Given the description of an element on the screen output the (x, y) to click on. 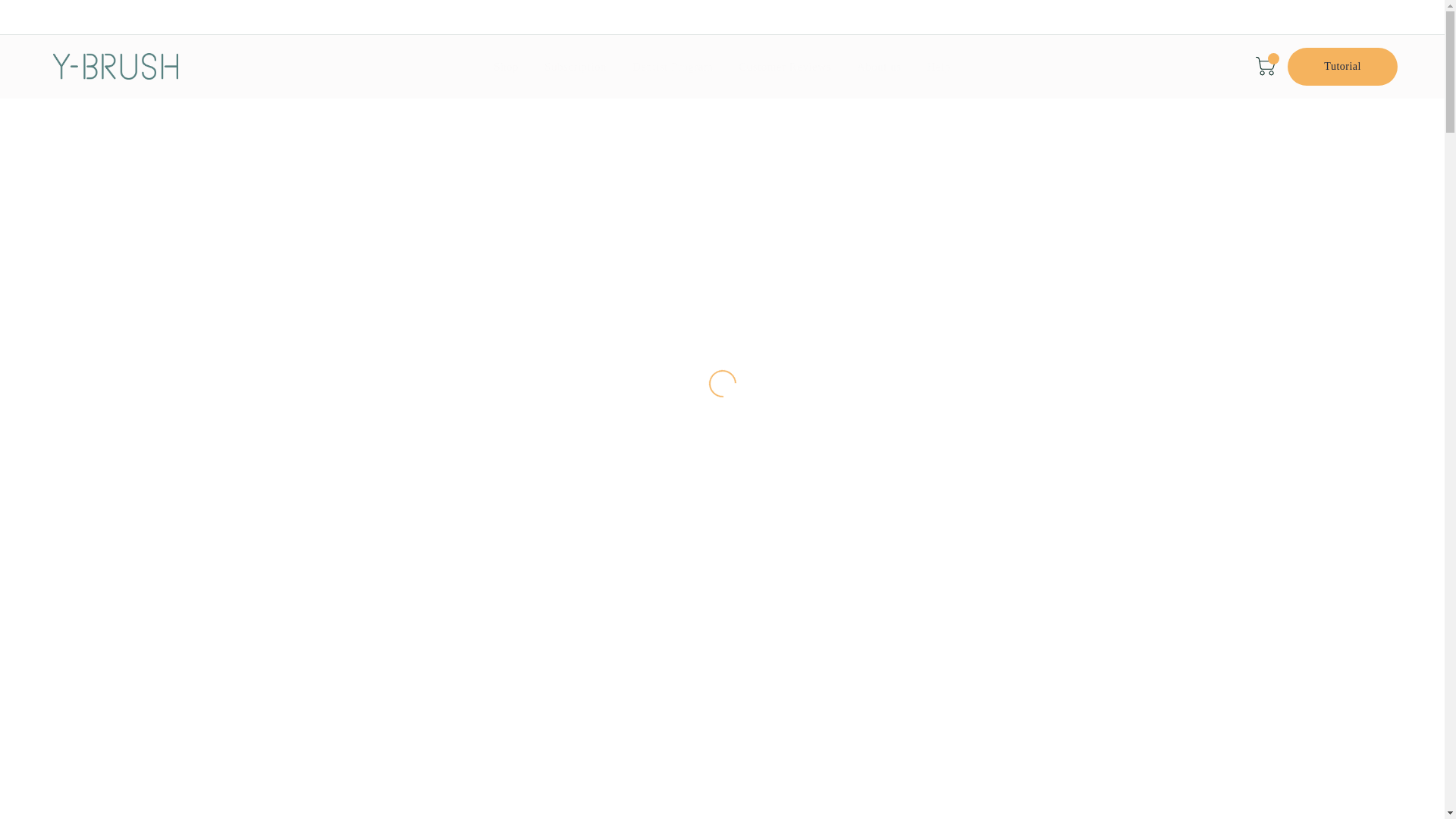
About us (878, 66)
oral hygiene (736, 601)
Shop (505, 66)
Dentist Program (672, 66)
Subscription (574, 66)
Tutorial (1342, 66)
Customer Reviews (784, 66)
Help (938, 66)
